Given the description of an element on the screen output the (x, y) to click on. 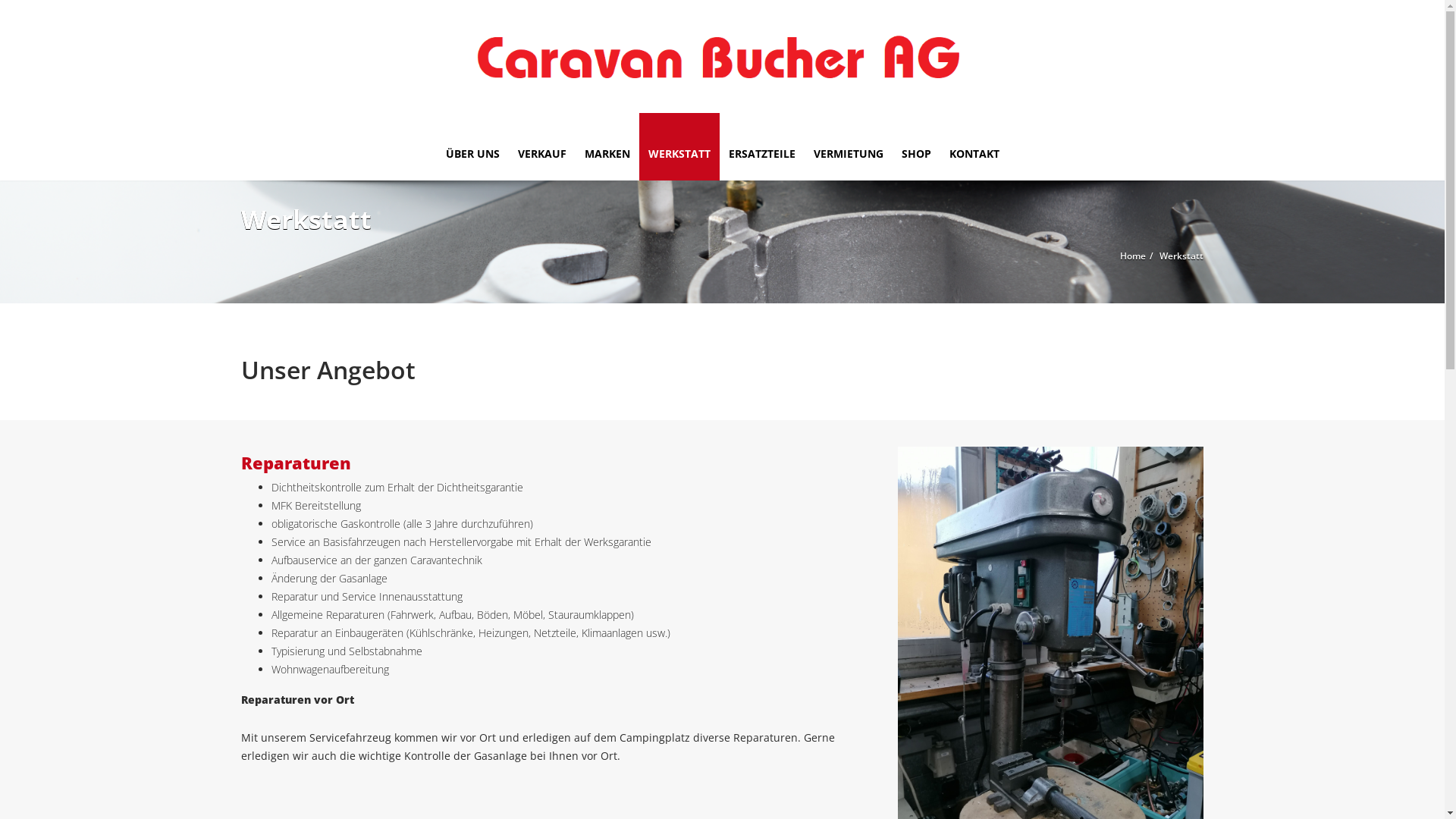
ERSATZTEILE Element type: text (760, 146)
VERKAUF Element type: text (541, 146)
SHOP Element type: text (915, 146)
Home Element type: text (1132, 255)
KONTAKT Element type: text (974, 146)
WERKSTATT Element type: text (678, 146)
MARKEN Element type: text (606, 146)
VERMIETUNG Element type: text (847, 146)
Werkstatt Element type: text (1181, 255)
